Given the description of an element on the screen output the (x, y) to click on. 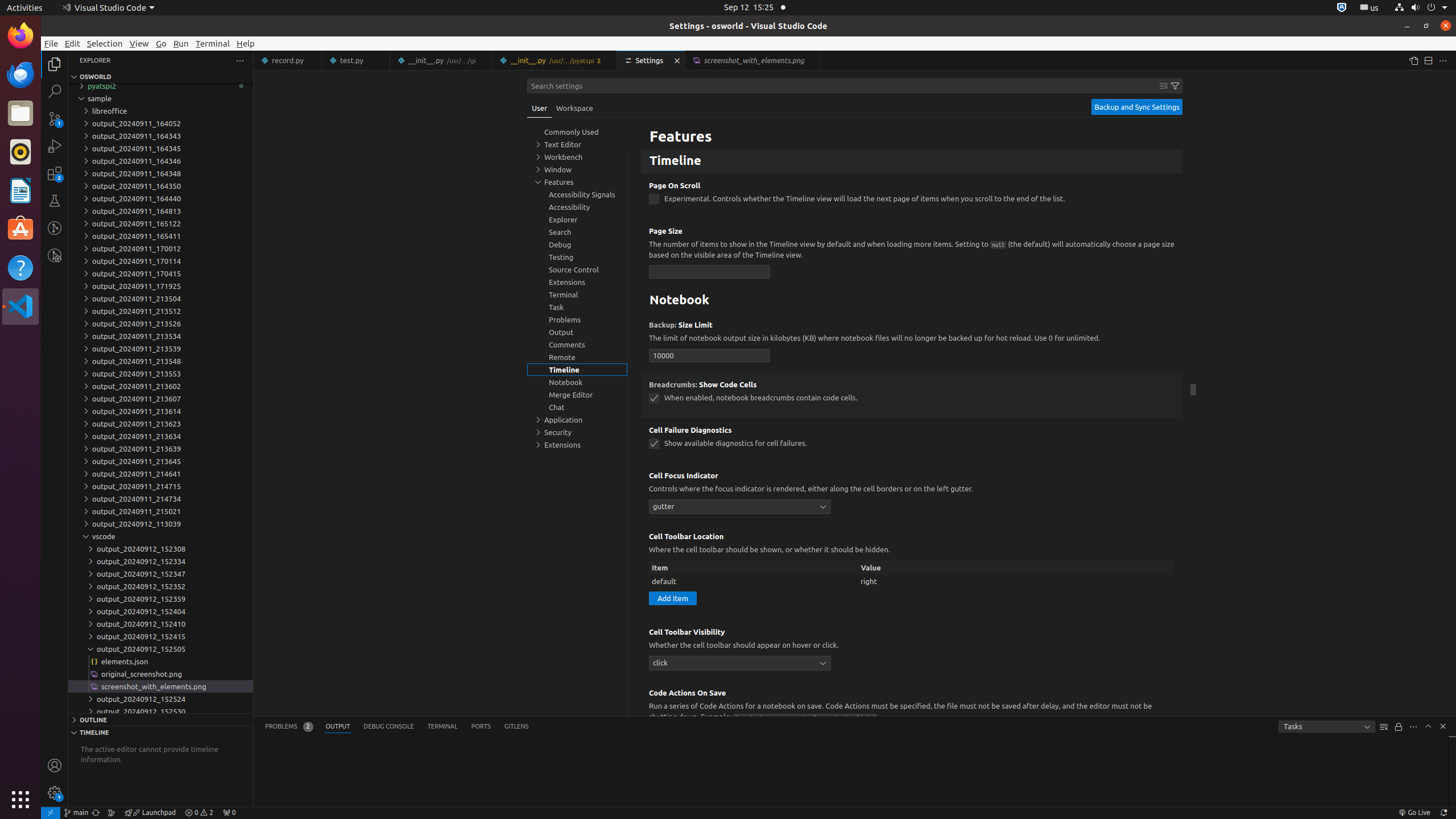
output_20240911_171925 Element type: tree-item (160, 285)
output_20240911_215021 Element type: tree-item (160, 511)
output_20240912_152352 Element type: tree-item (160, 586)
output_20240911_213512 Element type: tree-item (160, 310)
